Given the description of an element on the screen output the (x, y) to click on. 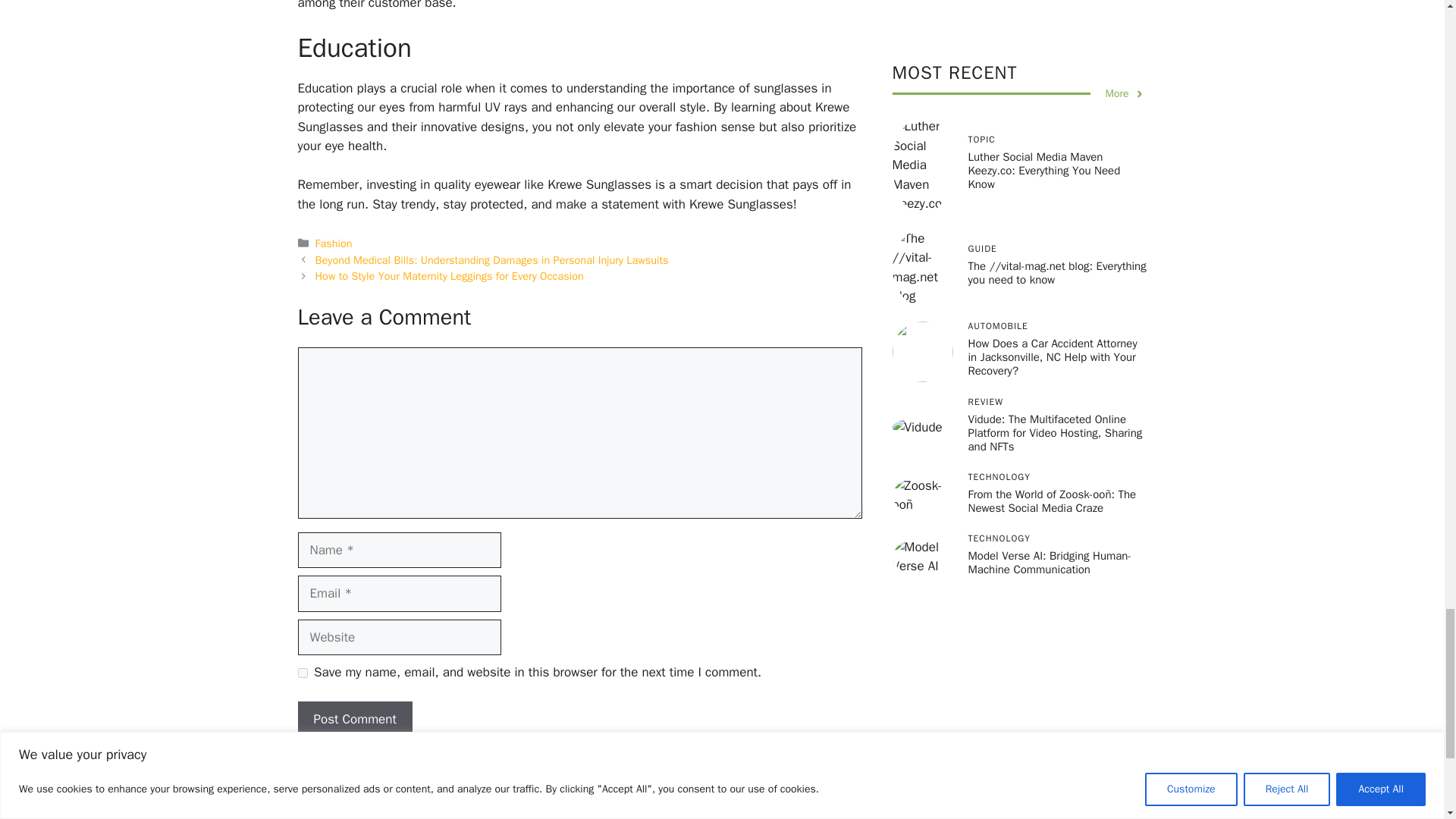
Post Comment (354, 719)
Post Comment (354, 719)
How to Style Your Maternity Leggings for Every Occasion (449, 275)
Fashion (333, 243)
yes (302, 673)
